Given the description of an element on the screen output the (x, y) to click on. 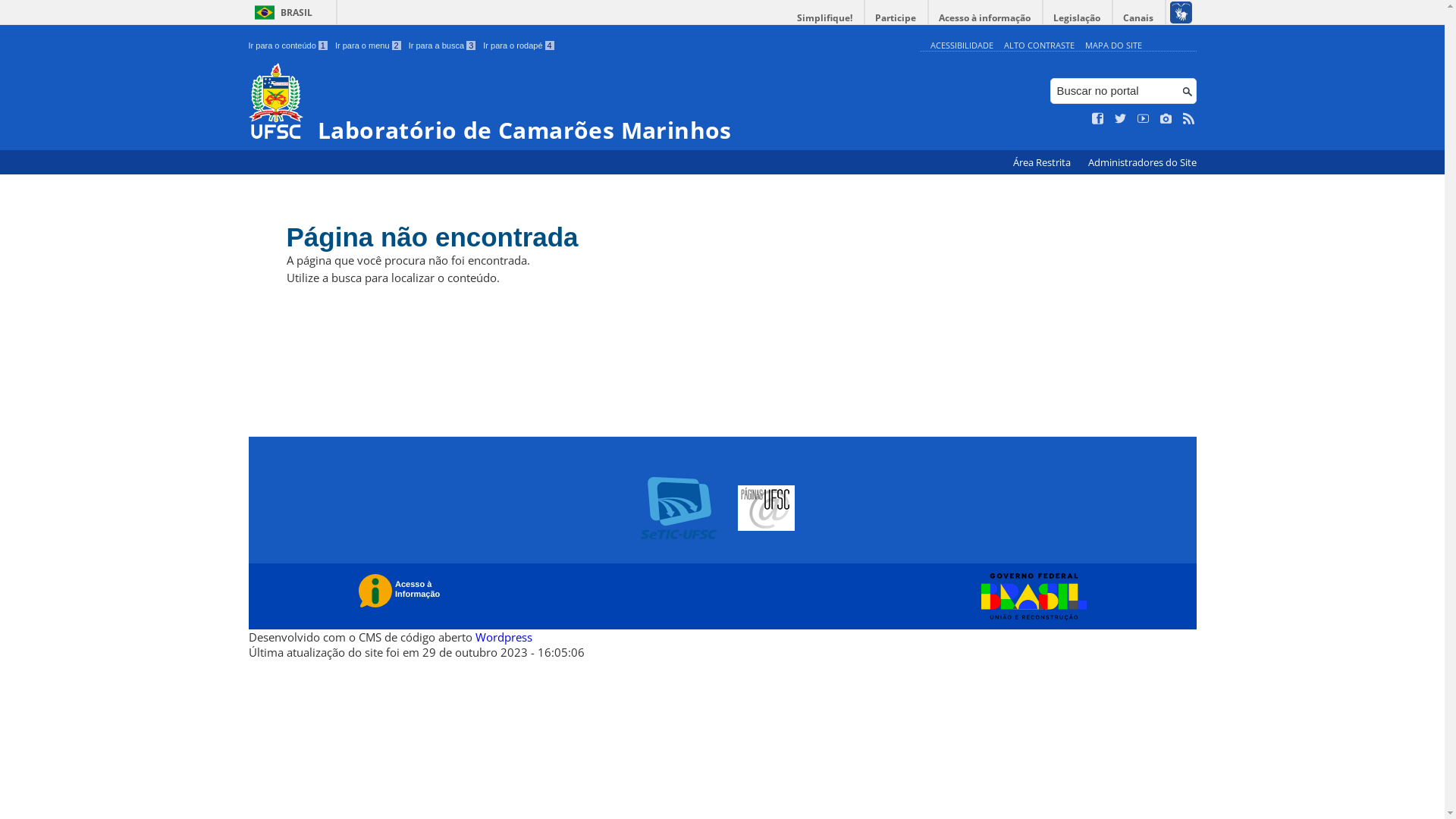
Administradores do Site Element type: text (1141, 162)
ACESSIBILIDADE Element type: text (960, 44)
Curta no Facebook Element type: hover (1098, 118)
BRASIL Element type: text (280, 12)
Ir para a busca 3 Element type: text (442, 45)
Governo Federal Element type: hover (1029, 596)
Simplifique! Element type: text (825, 18)
Ir para o menu 2 Element type: text (368, 45)
Participe Element type: text (895, 18)
Veja no Instagram Element type: hover (1166, 118)
Wordpress Element type: text (502, 636)
Siga no Twitter Element type: hover (1120, 118)
MAPA DO SITE Element type: text (1112, 44)
ALTO CONTRASTE Element type: text (1039, 44)
Canais Element type: text (1138, 18)
